Given the description of an element on the screen output the (x, y) to click on. 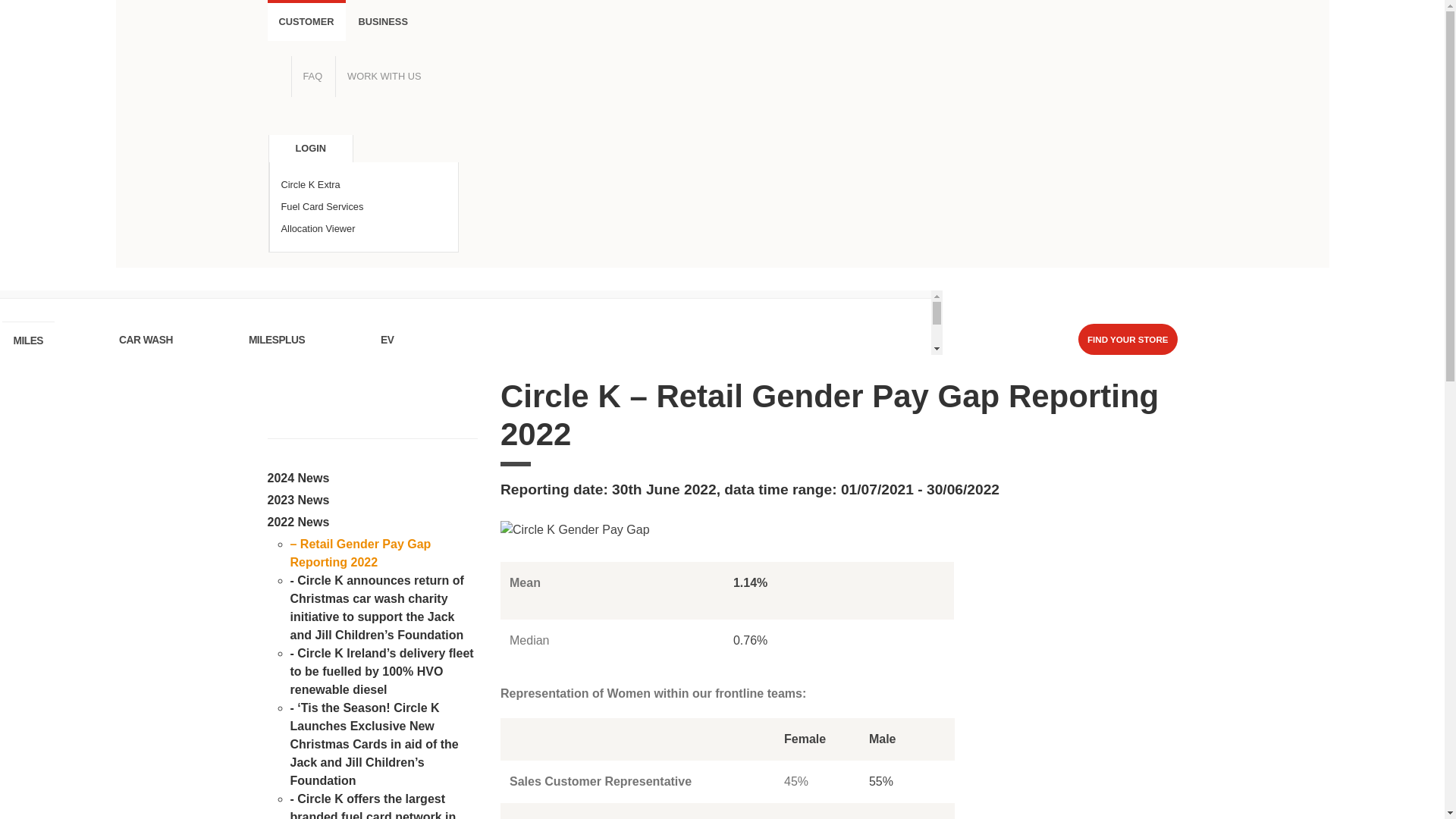
GIFT CARD (493, 340)
CAREERS (552, 340)
Home (721, 306)
Allocation Viewer (363, 228)
SUSTAINABILITY (411, 340)
FOOD (26, 341)
Circle K Extra (363, 184)
CIRCLE K SERVICE STATION (323, 340)
PARTNERSHIPS (257, 340)
